Given the description of an element on the screen output the (x, y) to click on. 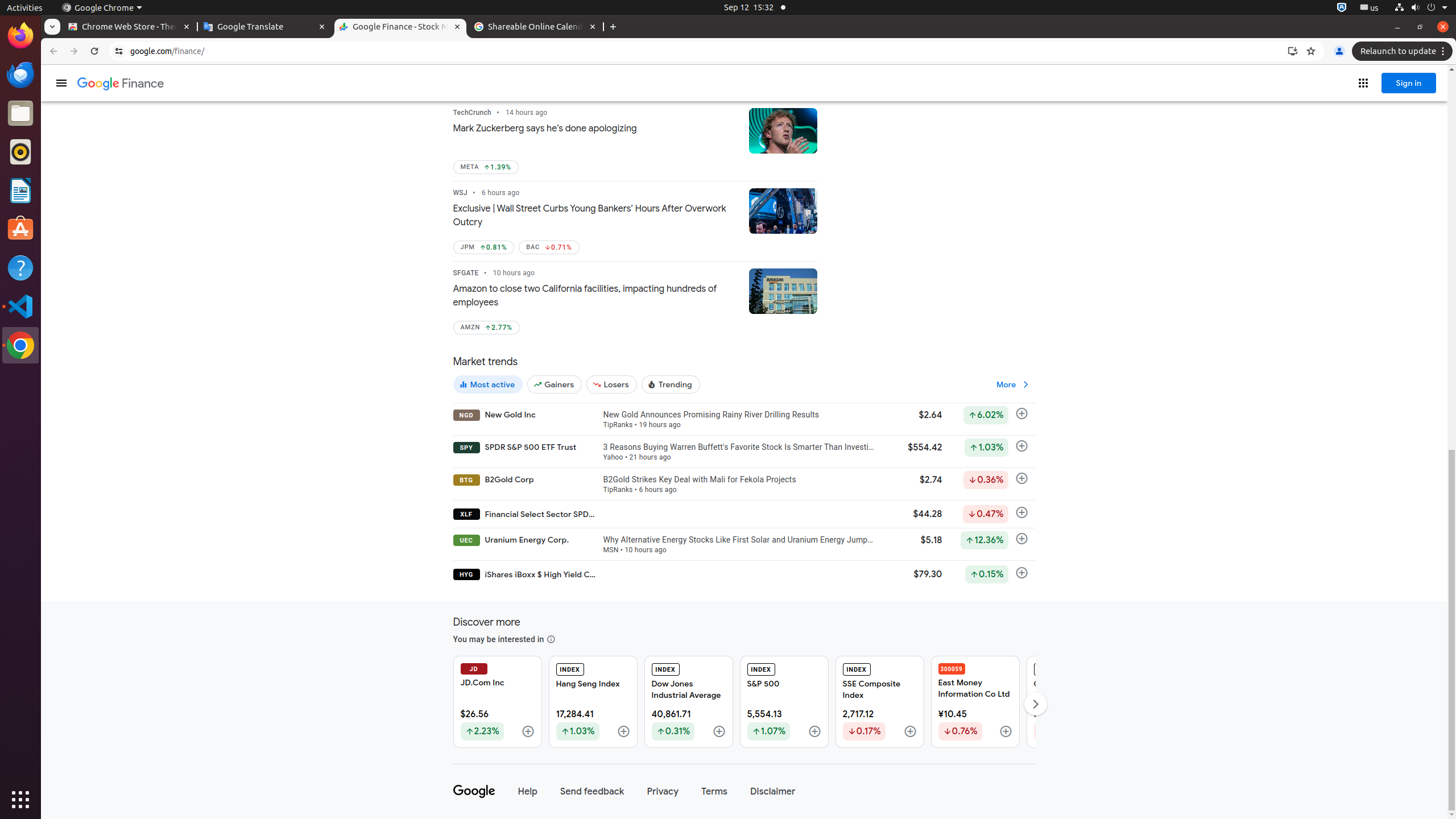
Bookmark this tab Element type: push-button (1310, 51)
META Up by 1.39% Element type: link (485, 167)
Show Applications Element type: toggle-button (20, 799)
INDEX CSI 300 Index 3,172.47 Down by 0.43% Element type: link (1070, 701)
Most active Element type: page-tab (487, 384)
